Given the description of an element on the screen output the (x, y) to click on. 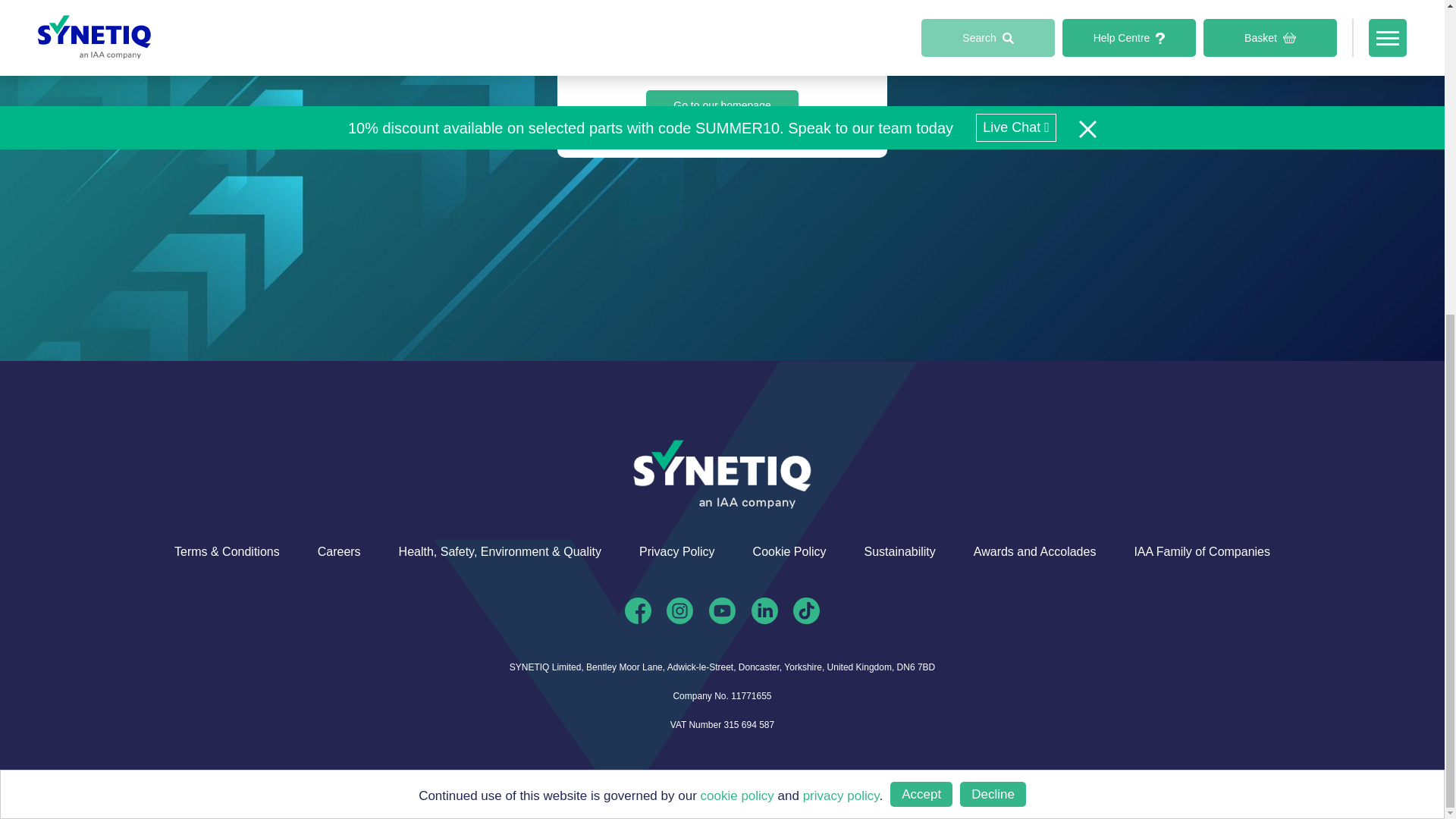
Go to our homepage (721, 105)
Accept (920, 333)
Privacy Policy (676, 551)
Careers (339, 551)
Decline (992, 323)
